Given the description of an element on the screen output the (x, y) to click on. 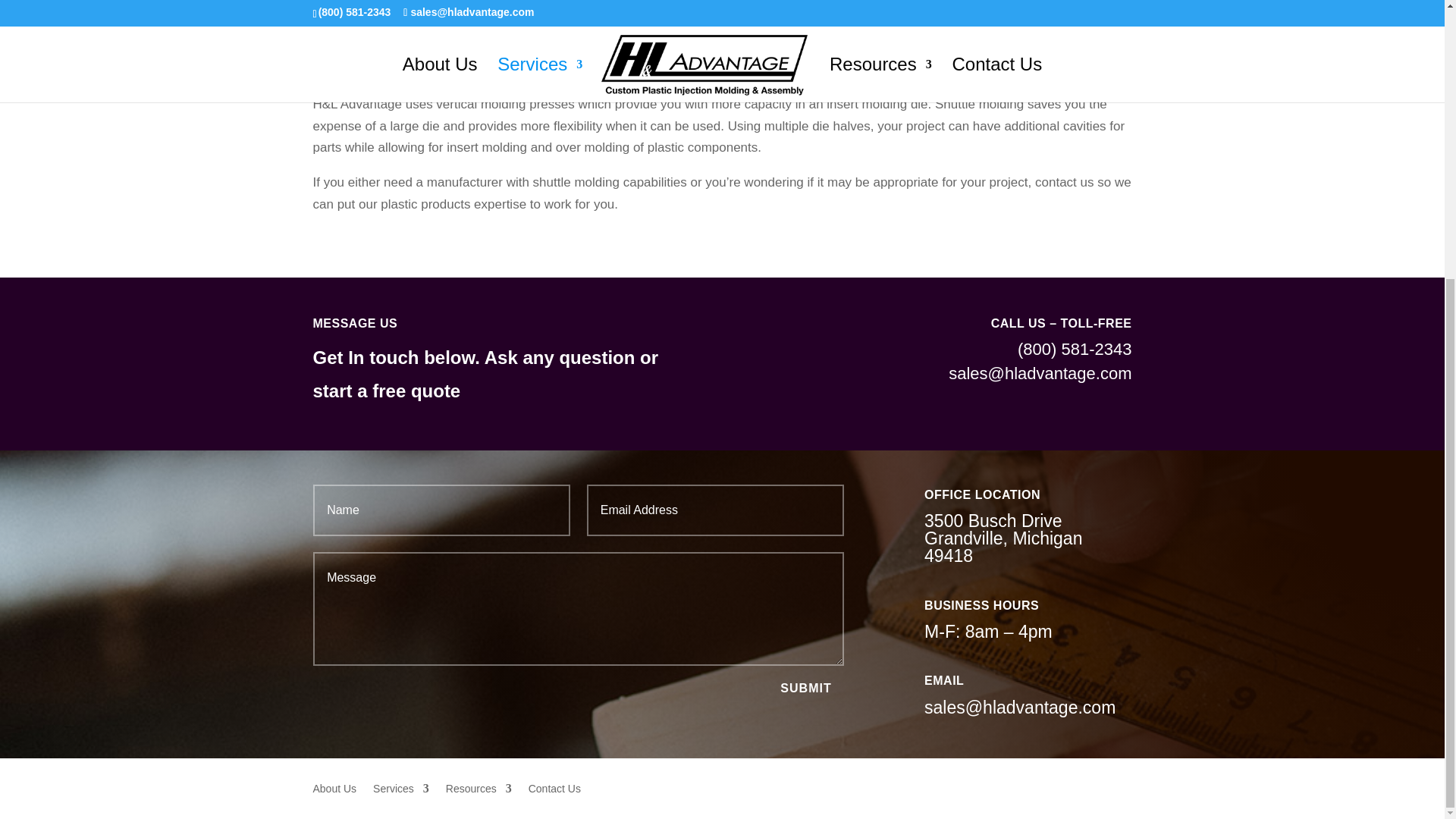
About Us (334, 798)
Resources (478, 798)
Services (400, 798)
SUBMIT (805, 687)
